Given the description of an element on the screen output the (x, y) to click on. 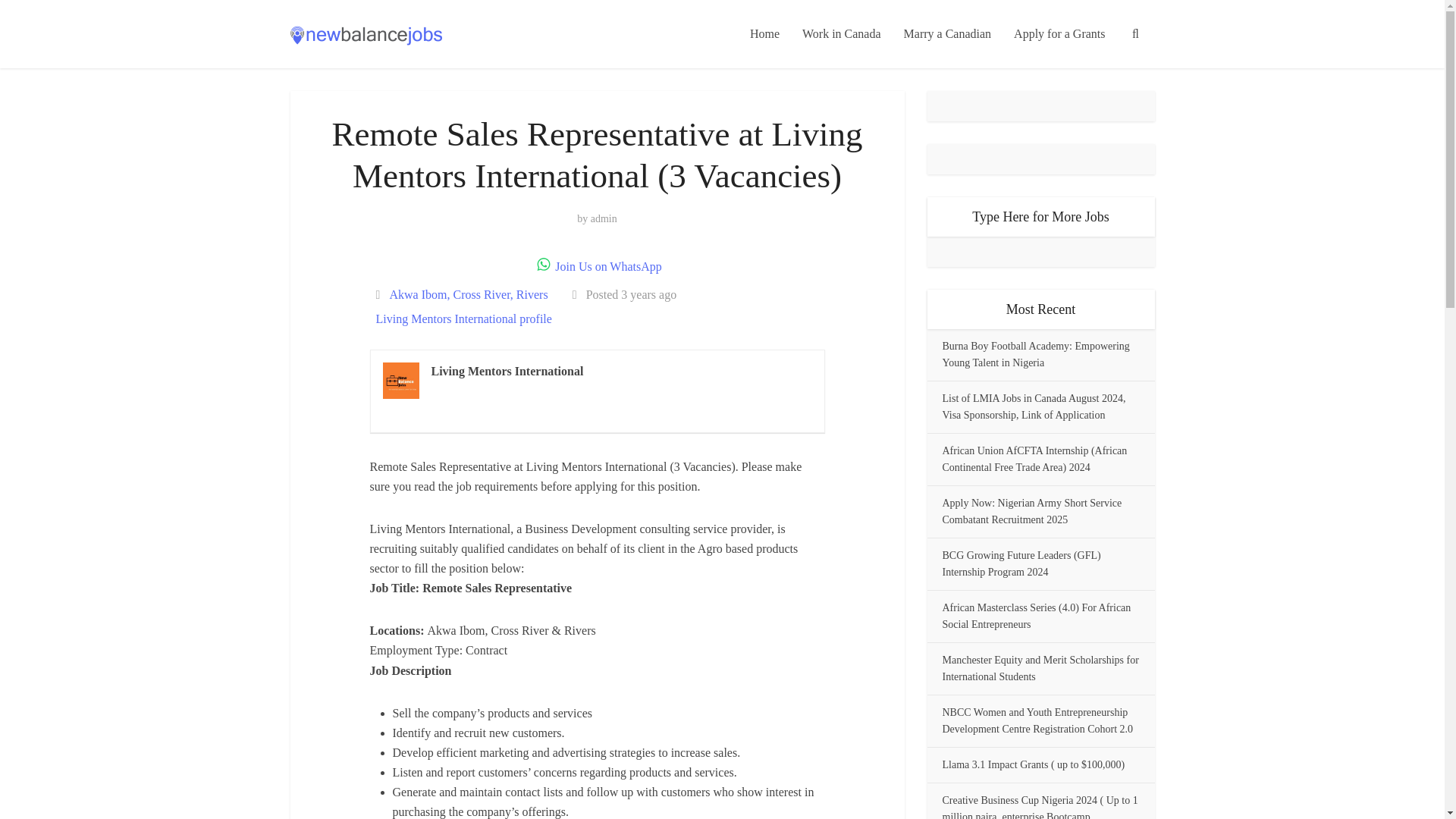
Join Us on WhatsApp (597, 266)
Join Us on WhatsApp (597, 266)
admin (604, 219)
Work in Canada (841, 33)
Marry a Canadian (947, 33)
Apply for a Grants (1059, 33)
Akwa Ibom, Cross River, Rivers (469, 294)
Living Mentors International profile (463, 318)
